Given the description of an element on the screen output the (x, y) to click on. 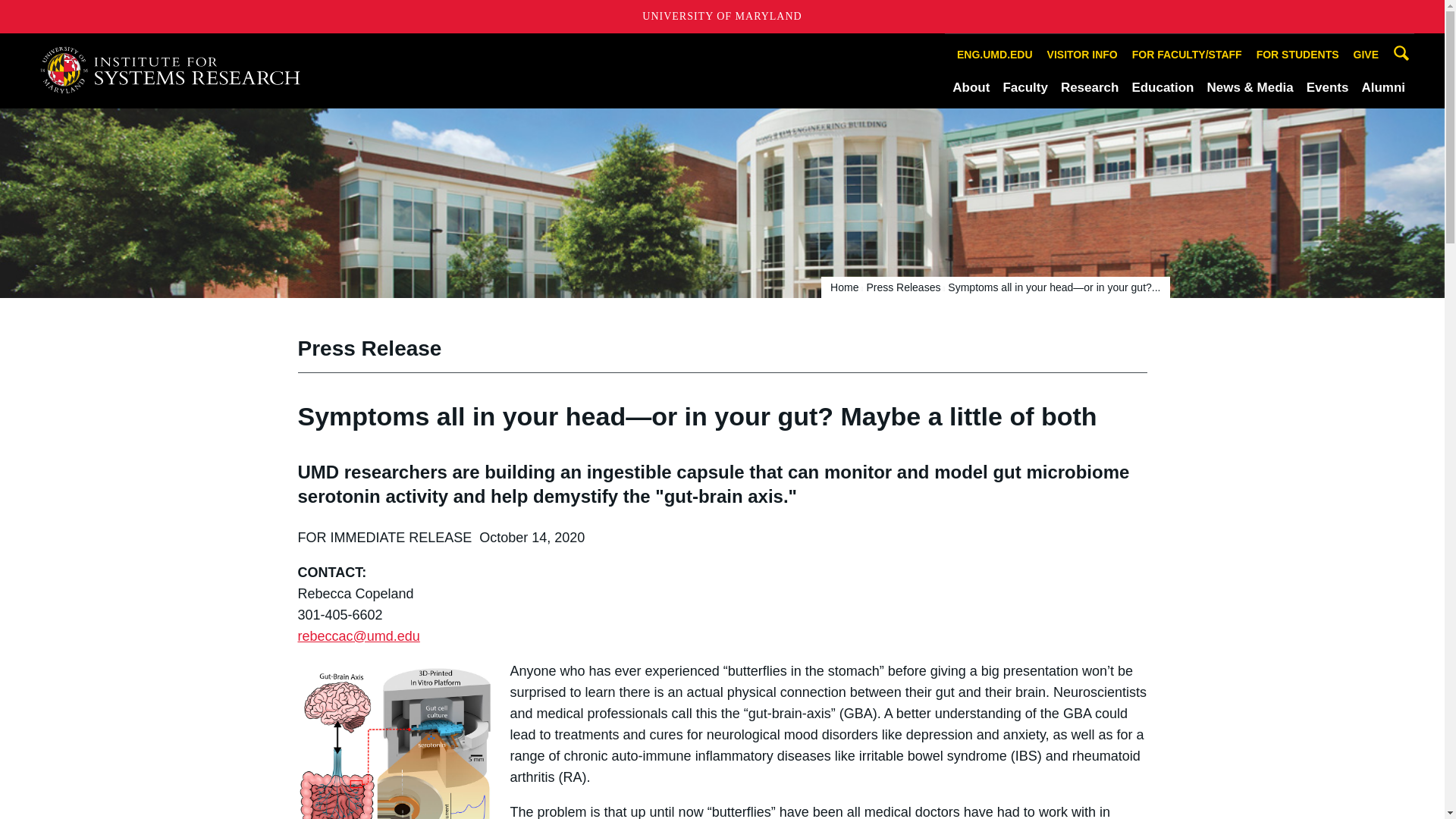
VISITOR INFO (1082, 54)
About (971, 87)
A. James Clark School of Engineering, University of Maryland (175, 69)
Faculty (1024, 87)
GIVE (1366, 54)
FOR STUDENTS (1296, 54)
ENG.UMD.EDU (995, 54)
UNIVERSITY OF MARYLAND (722, 16)
About (971, 87)
